Given the description of an element on the screen output the (x, y) to click on. 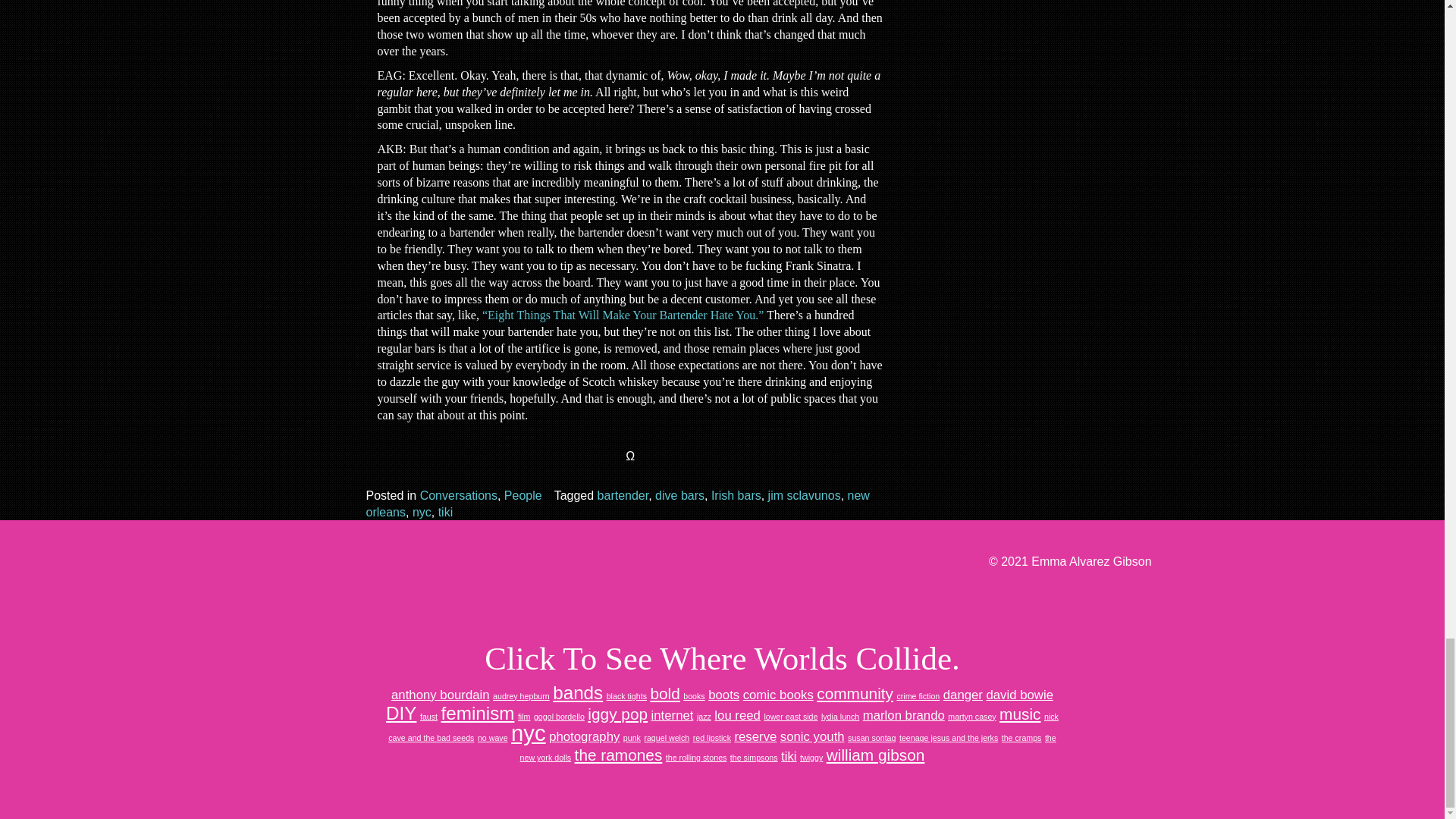
books (693, 696)
bands (577, 692)
DIY (400, 712)
dive bars (679, 495)
People (522, 495)
community (854, 692)
tiki (445, 511)
danger (962, 694)
Irish bars (736, 495)
jim sclavunos (804, 495)
nyc (421, 511)
faust (429, 716)
boots (723, 694)
david bowie (1018, 694)
black tights (626, 696)
